Given the description of an element on the screen output the (x, y) to click on. 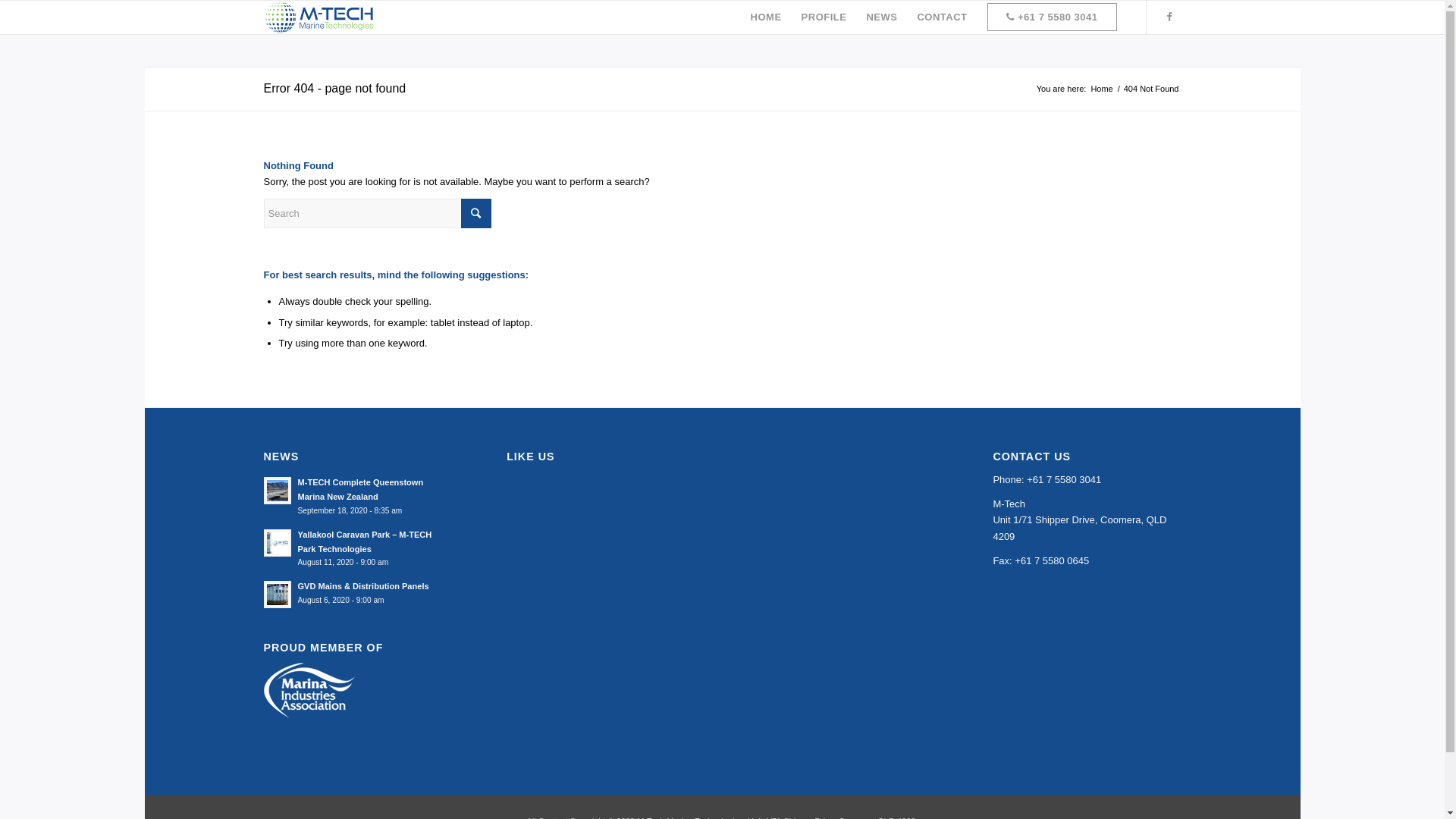
Home Element type: text (1101, 88)
HOME Element type: text (765, 17)
CONTACT Element type: text (941, 17)
PROFILE Element type: text (823, 17)
+61 7 5580 3041 Element type: text (1051, 17)
GVD Mains & Distribution Panels
August 6, 2020 - 9:00 am Element type: text (357, 592)
NEWS Element type: text (881, 17)
Facebook Element type: hover (1169, 16)
